Given the description of an element on the screen output the (x, y) to click on. 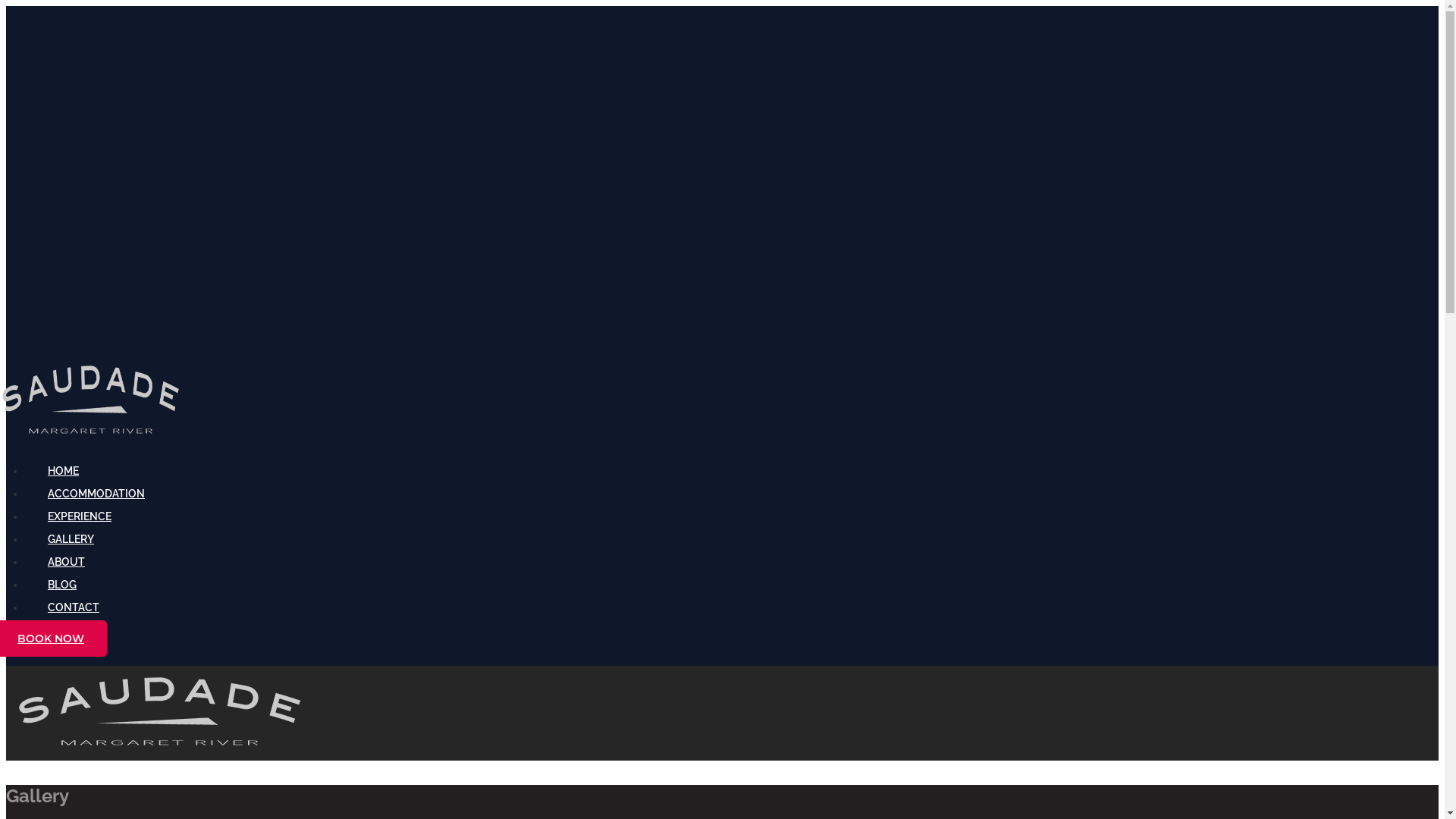
Home Element type: hover (157, 751)
BLOG Element type: text (62, 584)
GALLERY Element type: text (70, 539)
EXPERIENCE Element type: text (79, 516)
HOME Element type: text (63, 470)
Skip to content Element type: text (5, 5)
CONTACT Element type: text (73, 607)
ACCOMMODATION Element type: text (96, 493)
ABOUT Element type: text (66, 561)
